Given the description of an element on the screen output the (x, y) to click on. 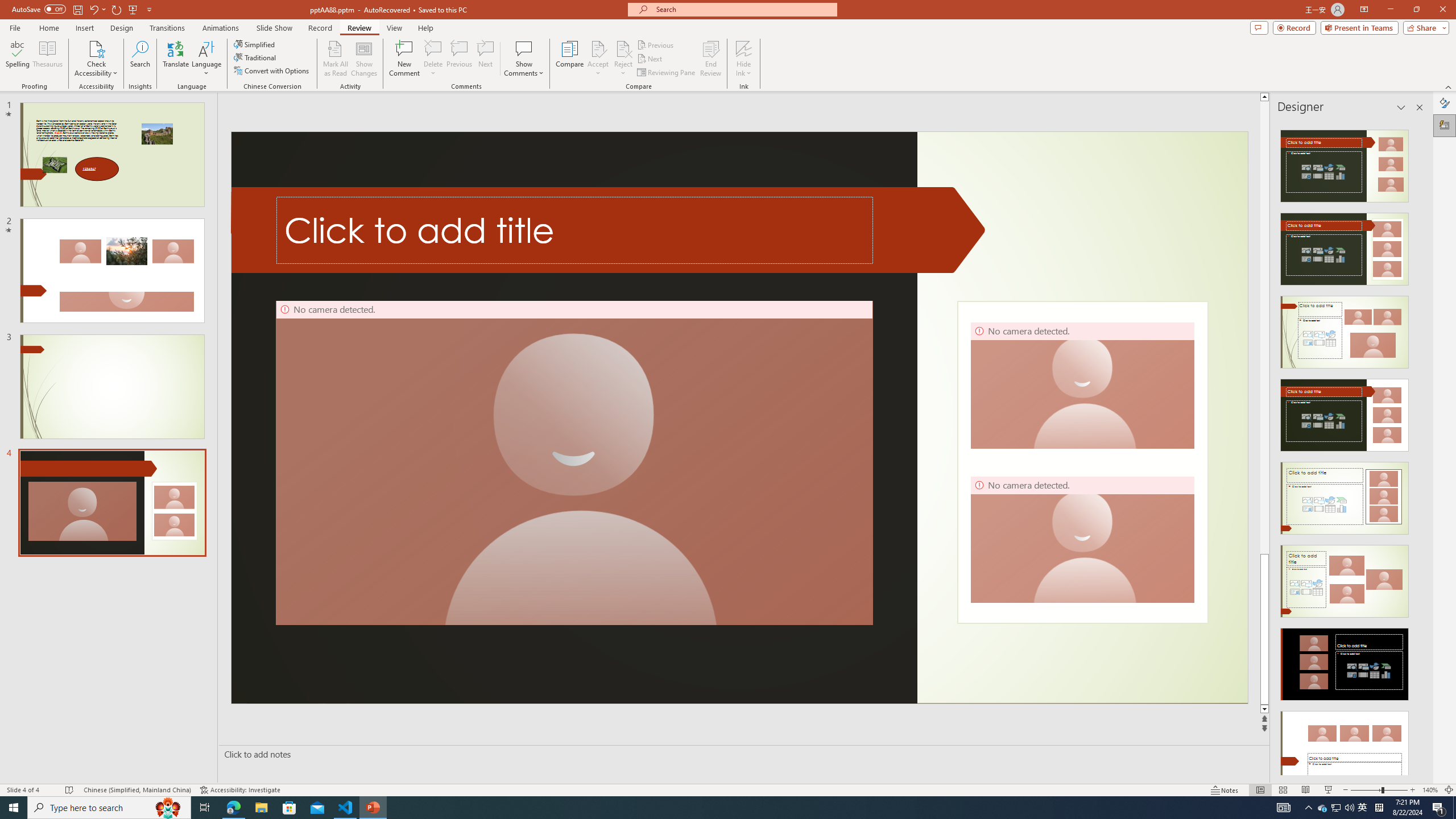
Camera 4, No camera detected. (1082, 539)
Camera 3, No camera detected. (1082, 385)
Reject (622, 58)
Decorative Locked (1082, 462)
Thesaurus... (47, 58)
Show Changes (363, 58)
